Given the description of an element on the screen output the (x, y) to click on. 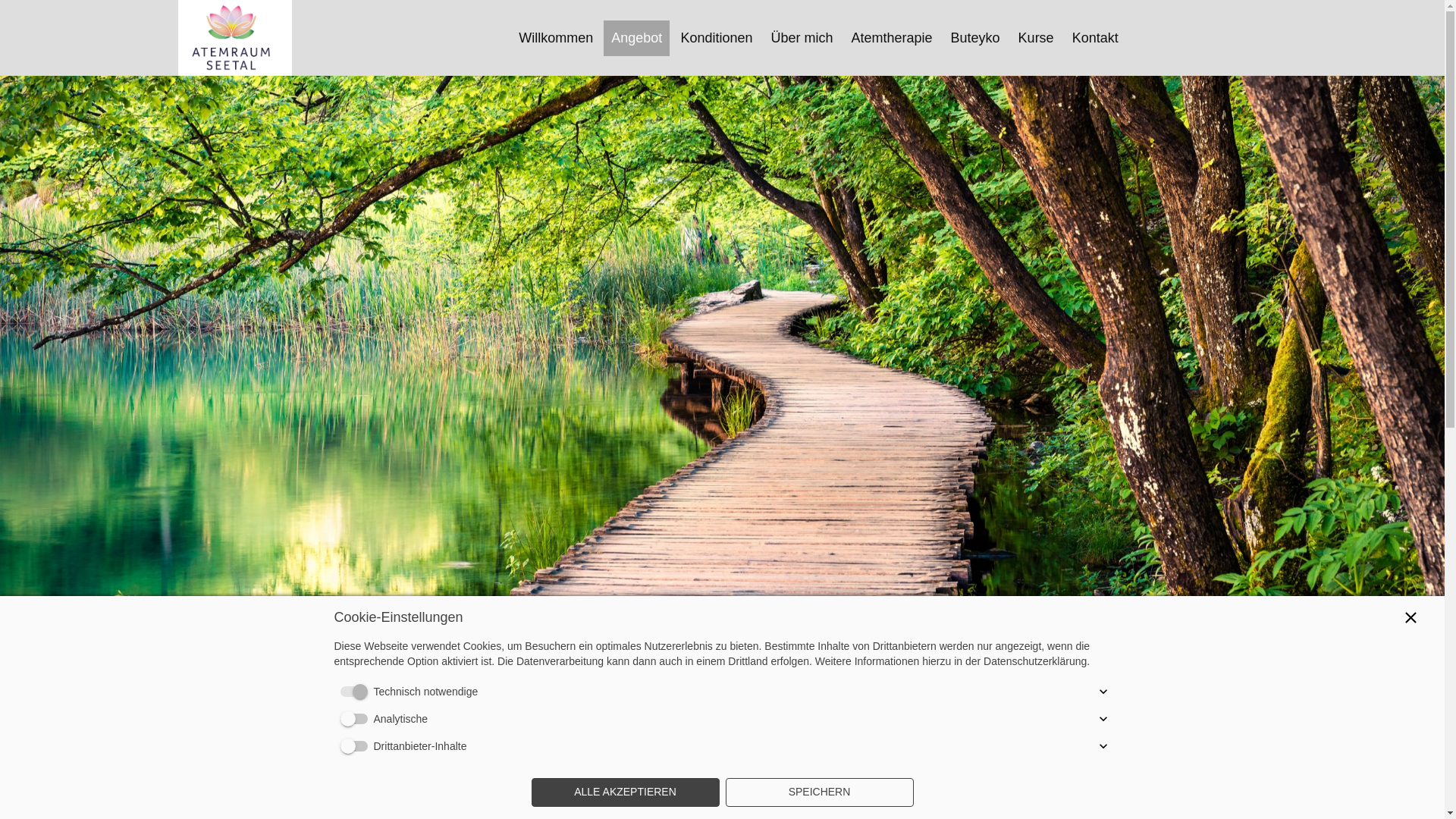
Kurse Element type: text (1036, 37)
Buteyko Element type: text (975, 37)
Willkommen Element type: text (555, 37)
SPEICHERN Element type: text (818, 792)
Angebot Element type: text (636, 37)
Konditionen Element type: text (716, 37)
Kontakt Element type: text (1095, 37)
  Element type: text (234, 36)
Atemtherapie Element type: text (890, 37)
ALLE AKZEPTIEREN Element type: text (624, 792)
